Given the description of an element on the screen output the (x, y) to click on. 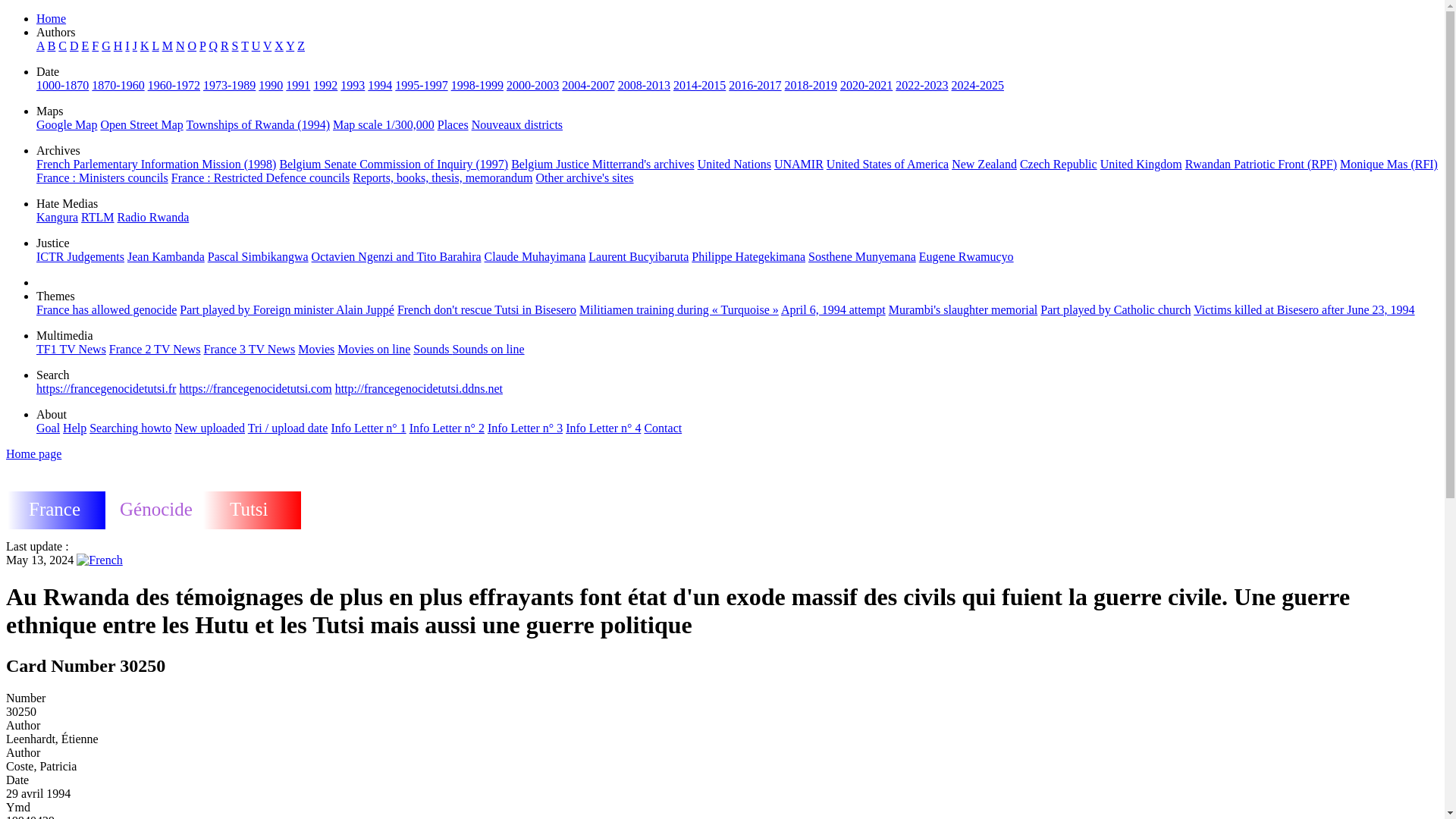
2000-2003 (532, 84)
1994 (379, 84)
1993 (352, 84)
1973-1989 (229, 84)
Authors (55, 31)
1998-1999 (477, 84)
Home (50, 18)
1990 (270, 84)
Date (47, 71)
1992 (325, 84)
